Given the description of an element on the screen output the (x, y) to click on. 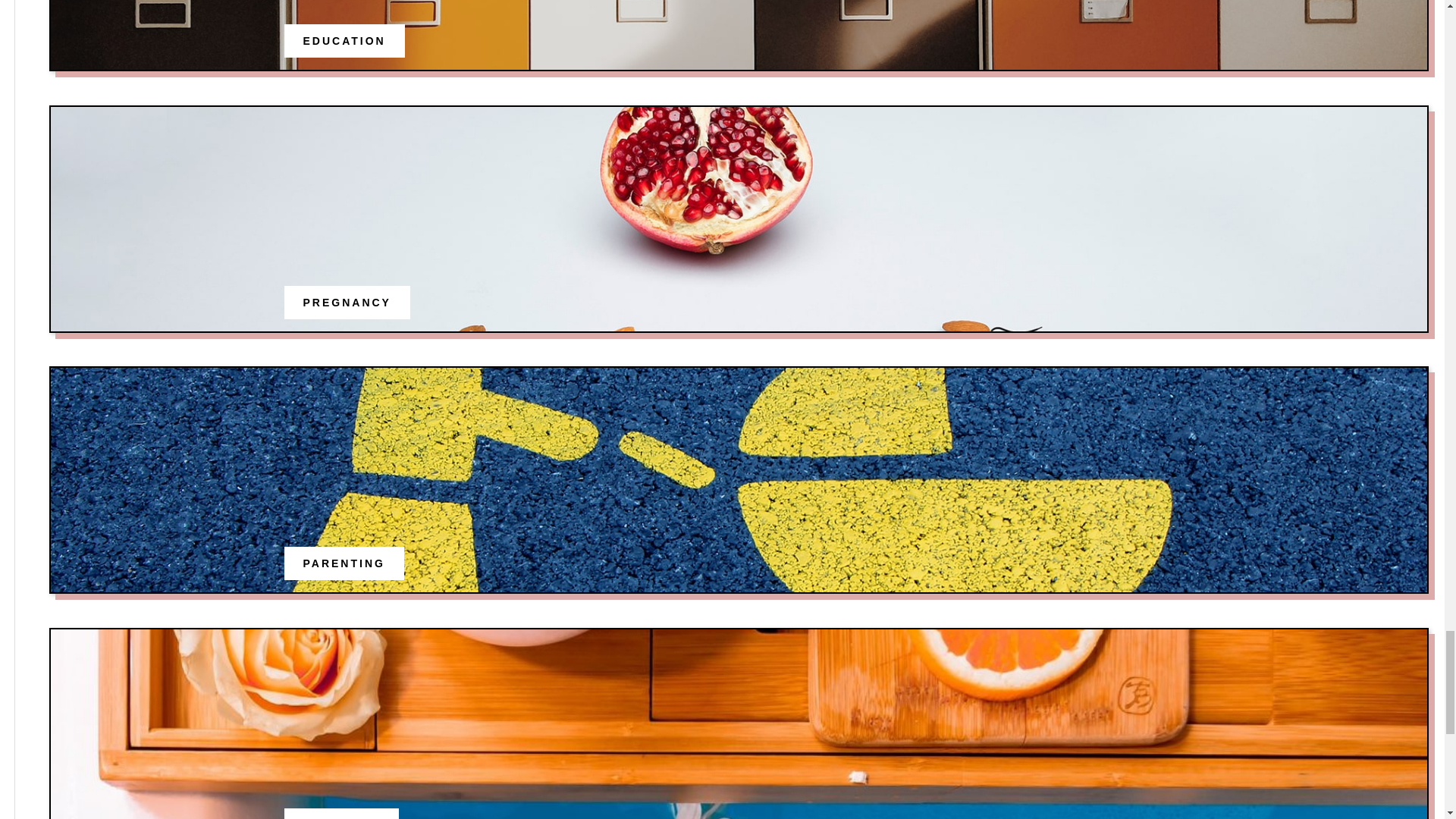
PARENTING (344, 563)
EDUCATION (344, 40)
PREGNANCY (346, 302)
WELLNESS (341, 815)
